Given the description of an element on the screen output the (x, y) to click on. 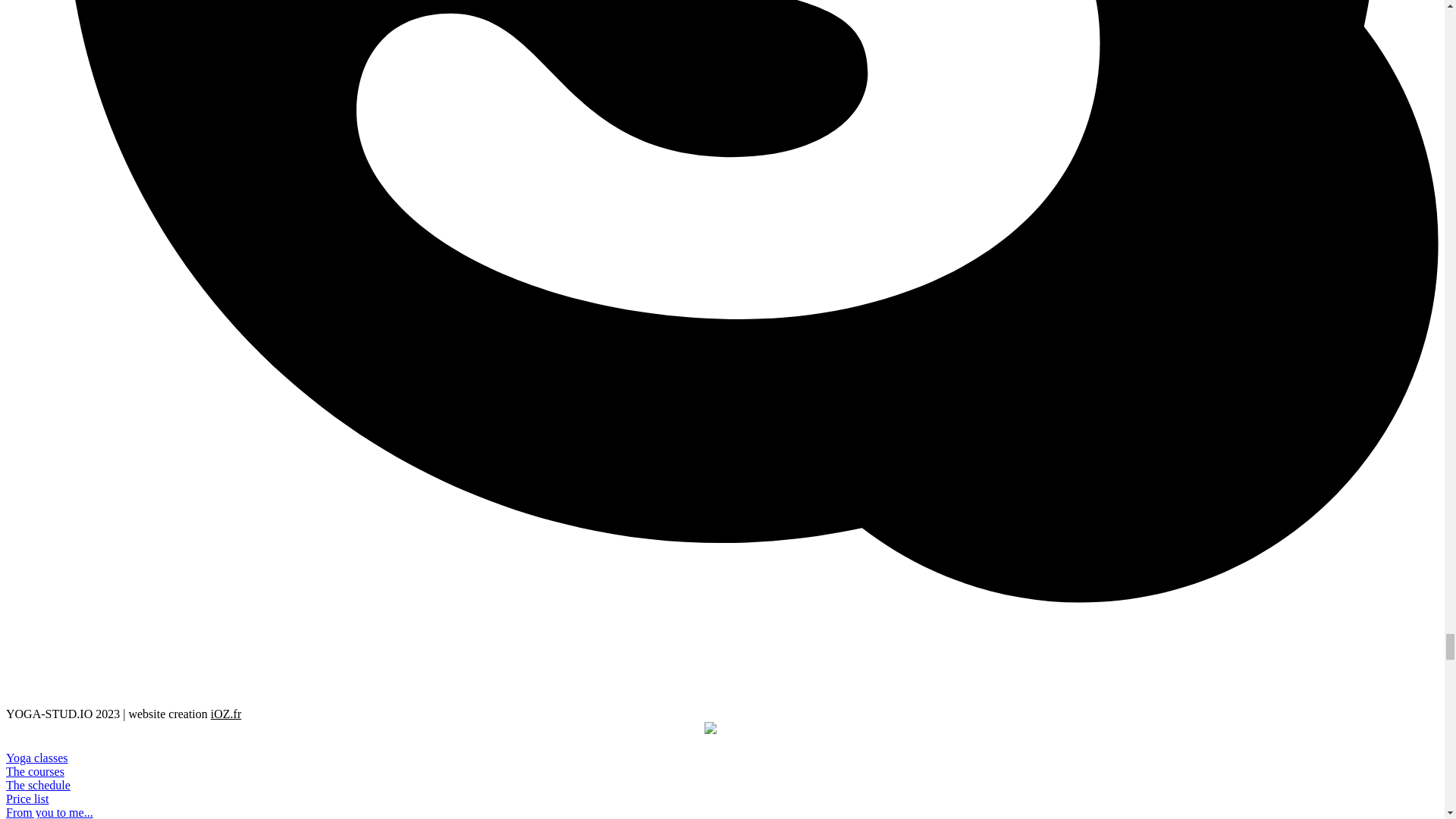
Yoga classes (35, 757)
From you to me... (49, 812)
Price list (26, 798)
The courses (34, 771)
iOZ.fr (226, 713)
The schedule (37, 784)
